Given the description of an element on the screen output the (x, y) to click on. 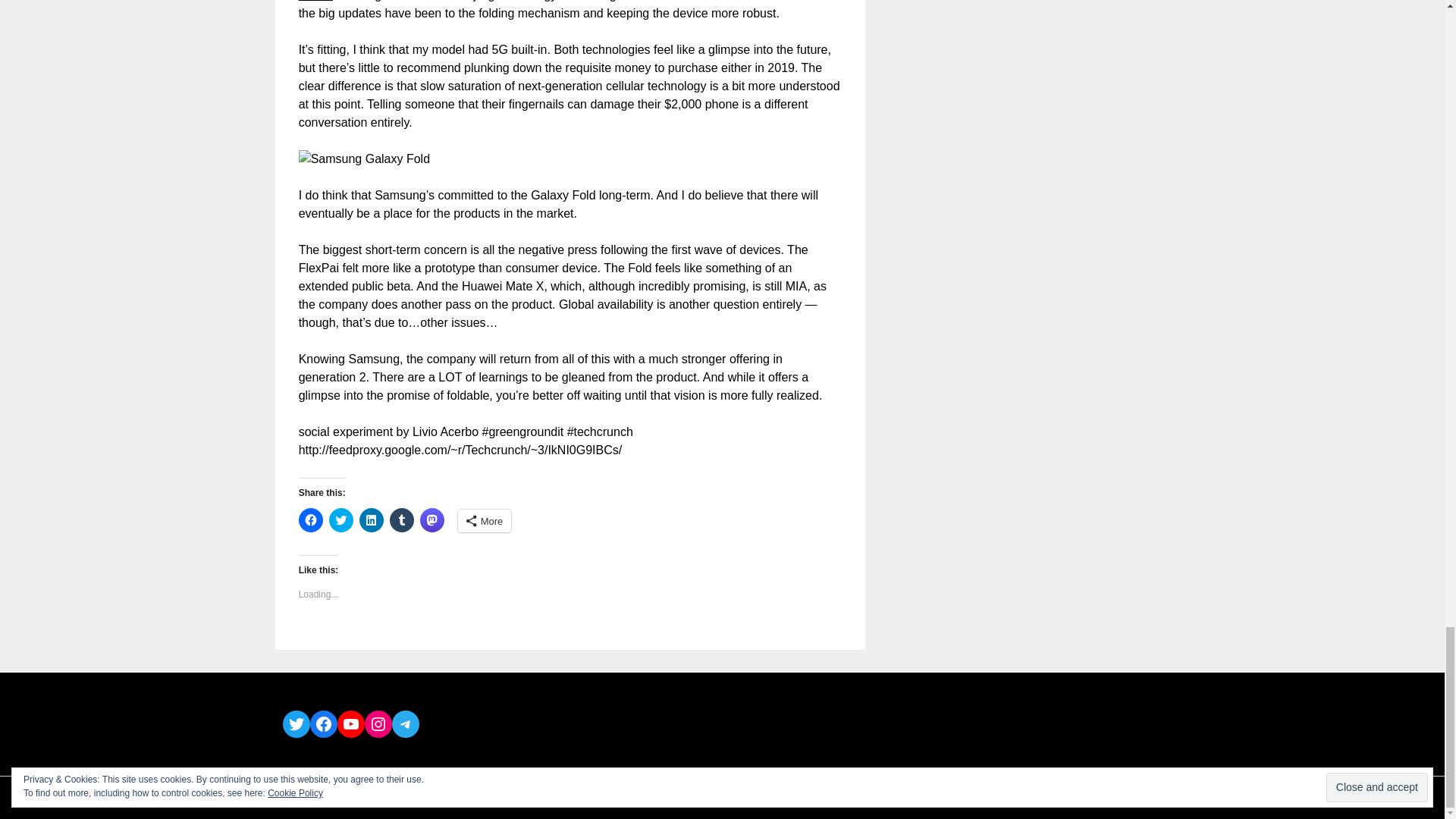
Click to share on Tumblr (401, 519)
YouTube (350, 723)
Twitter (295, 723)
Click to share on LinkedIn (371, 519)
Samsung Galaxy Fold (363, 158)
Click to share on Facebook (310, 519)
More (485, 520)
Click to share on Twitter (341, 519)
Facebook (322, 723)
